Given the description of an element on the screen output the (x, y) to click on. 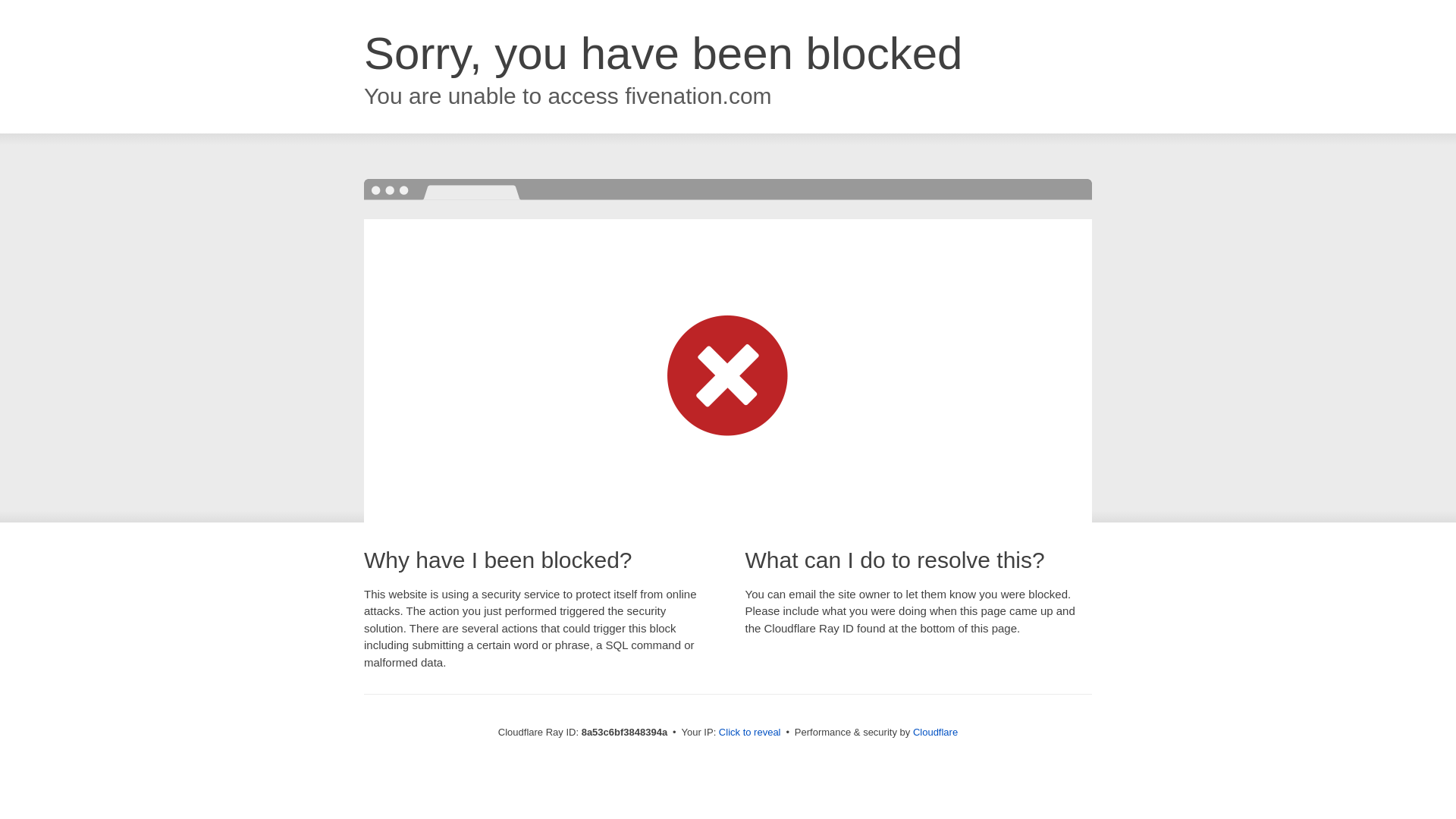
Cloudflare (935, 731)
Click to reveal (749, 732)
